Given the description of an element on the screen output the (x, y) to click on. 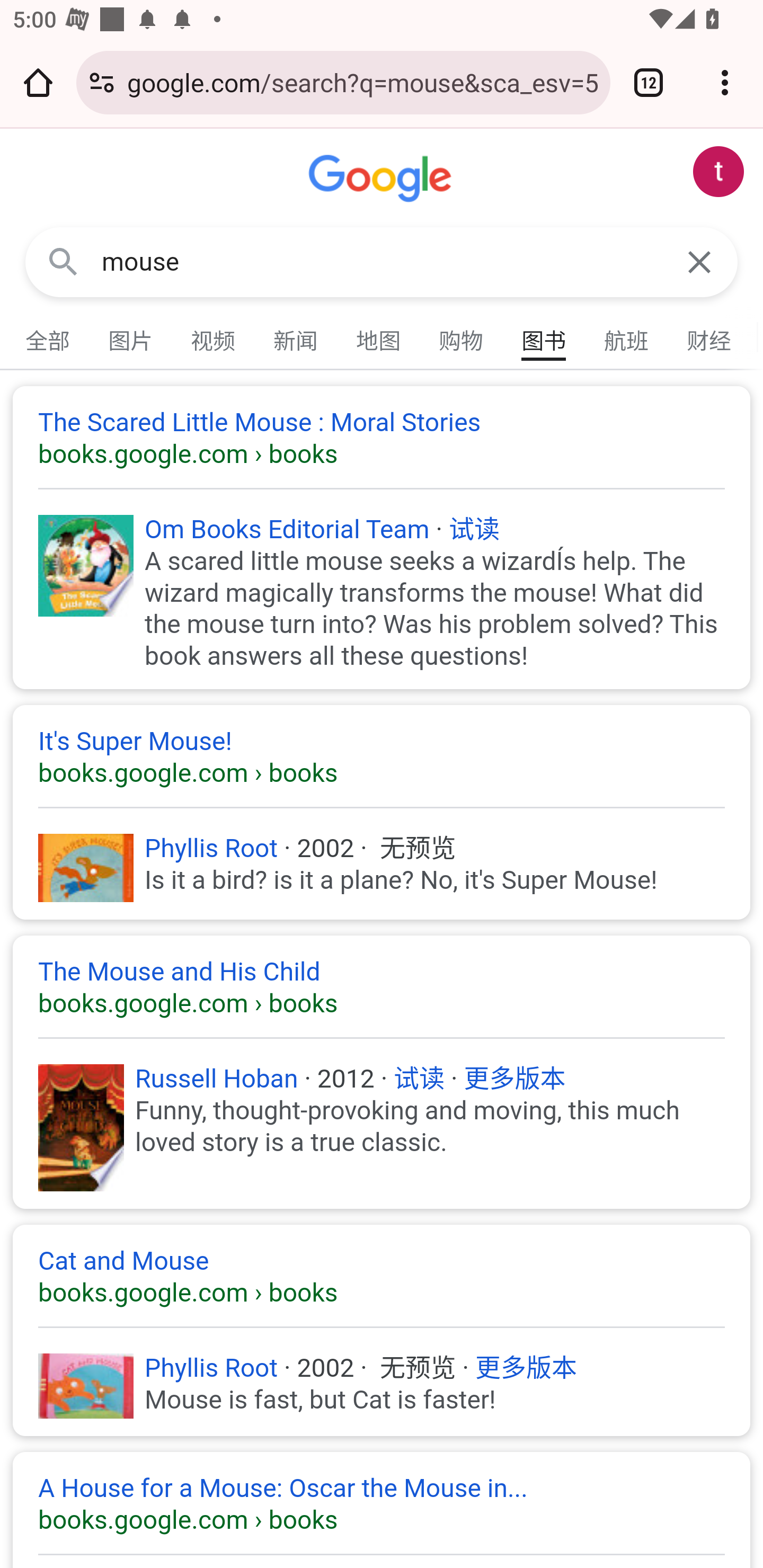
Open the home page (38, 82)
Connection is secure (101, 82)
Switch or close tabs (648, 82)
Customize and control Google Chrome (724, 82)
Google (381, 179)
Google 账号： test appium (testappium002@gmail.com) (718, 171)
Google 搜索 (63, 262)
清除搜索 (699, 262)
mouse (381, 261)
全部 (48, 336)
图片 (131, 336)
视频 (213, 336)
新闻 (296, 336)
地图 (379, 336)
购物 (461, 336)
航班 (627, 336)
财经 (709, 336)
The Scared Little Mouse : Moral Stories (381, 437)
Om Books Editorial Team (287, 528)
试读 (474, 528)
It's Super Mouse! (381, 757)
Phyllis Root (211, 847)
The Mouse and His Child (381, 987)
Russell Hoban (217, 1078)
试读 (418, 1078)
更多版本 (514, 1078)
Cat and Mouse (381, 1276)
Phyllis Root (211, 1367)
更多版本 (526, 1367)
A House for a Mouse: Oscar the Mouse in... (381, 1503)
